Given the description of an element on the screen output the (x, y) to click on. 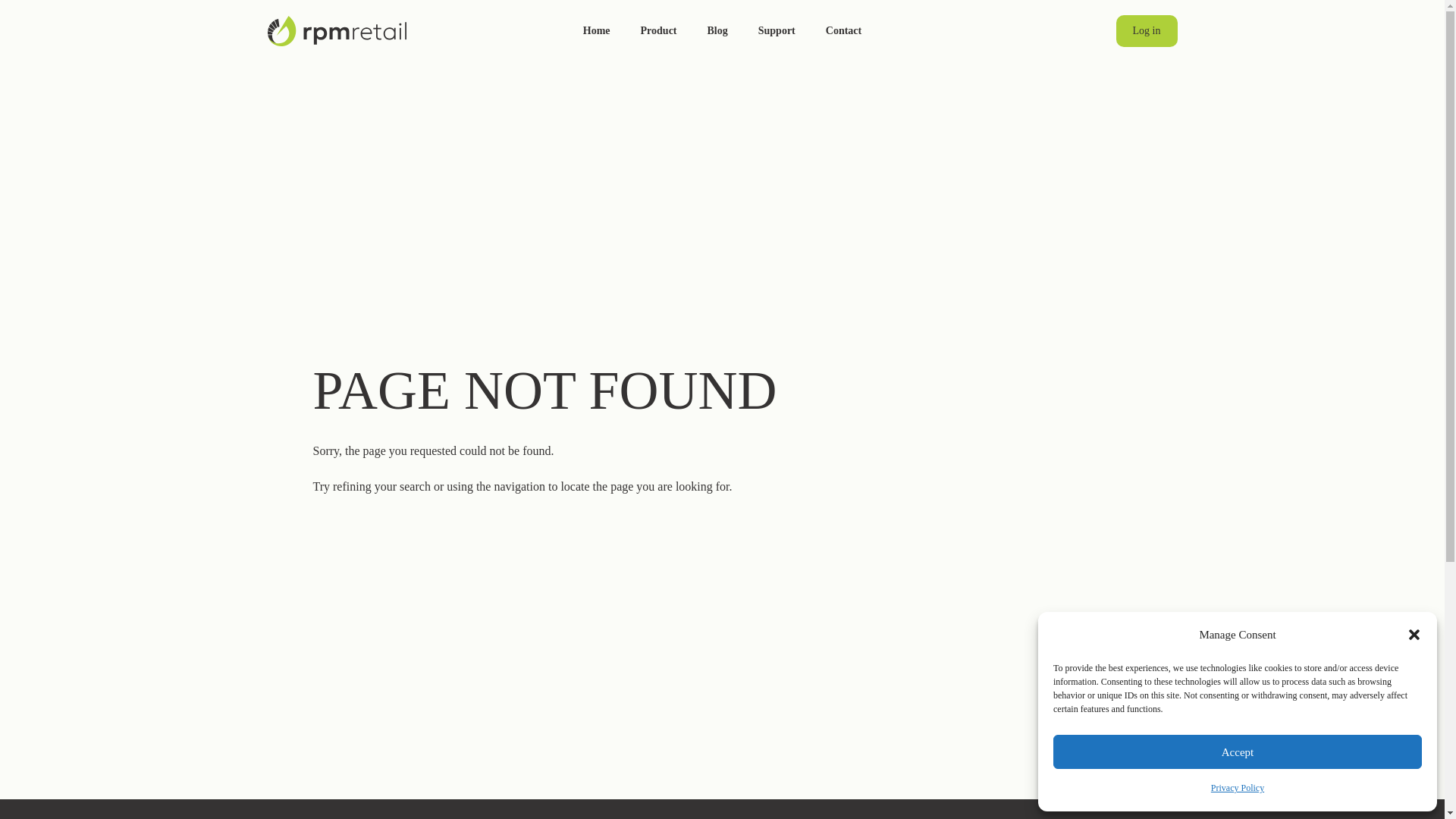
Blog (717, 33)
Log in (1146, 30)
Privacy Policy (1237, 788)
Contact (843, 33)
Home (596, 33)
Support (776, 33)
Product (658, 33)
Accept (1237, 751)
